Given the description of an element on the screen output the (x, y) to click on. 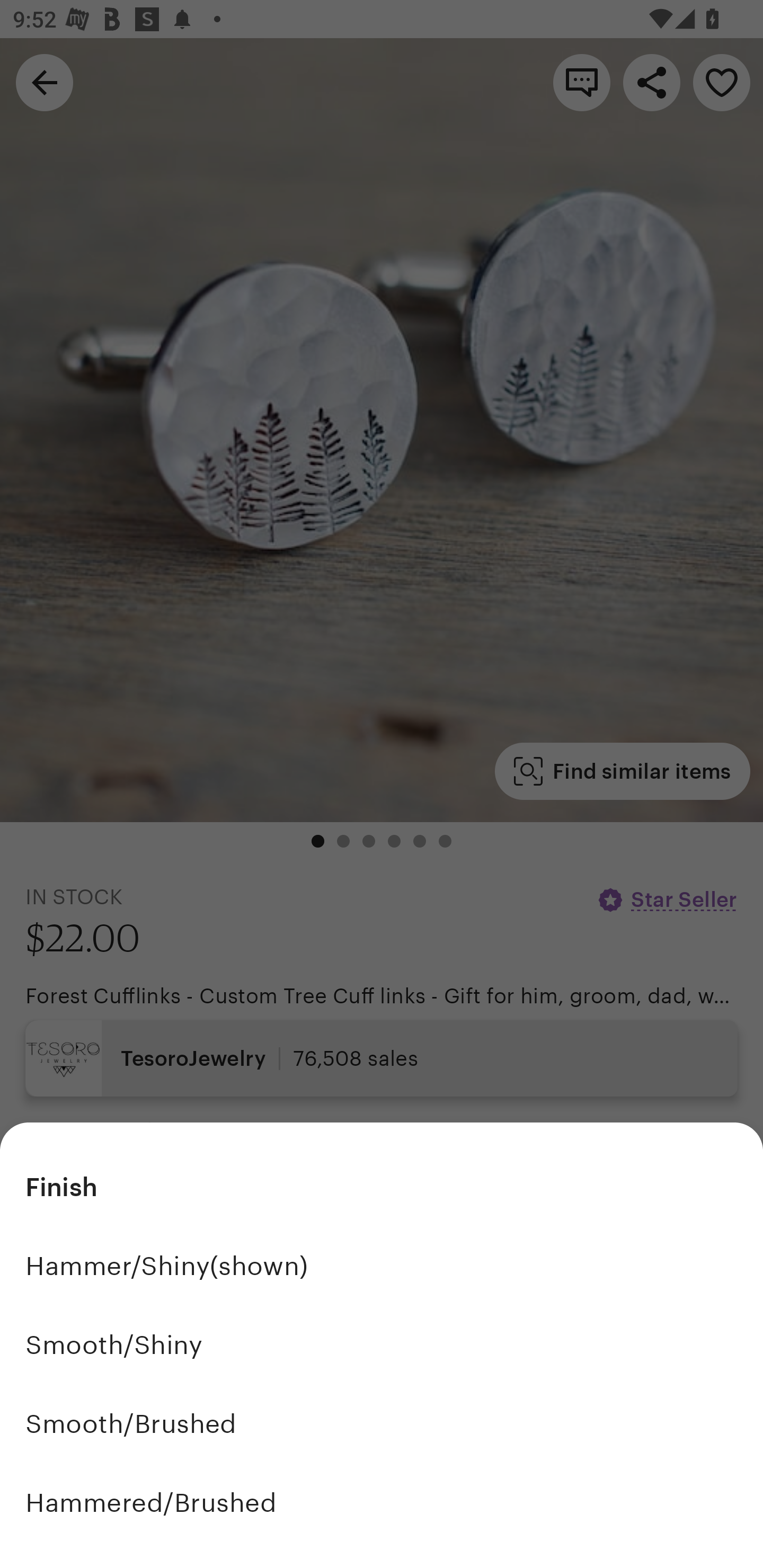
Hammer/Shiny(shown) (381, 1266)
Smooth/Shiny (381, 1345)
Smooth/Brushed (381, 1423)
Hammered/Brushed (381, 1502)
